Given the description of an element on the screen output the (x, y) to click on. 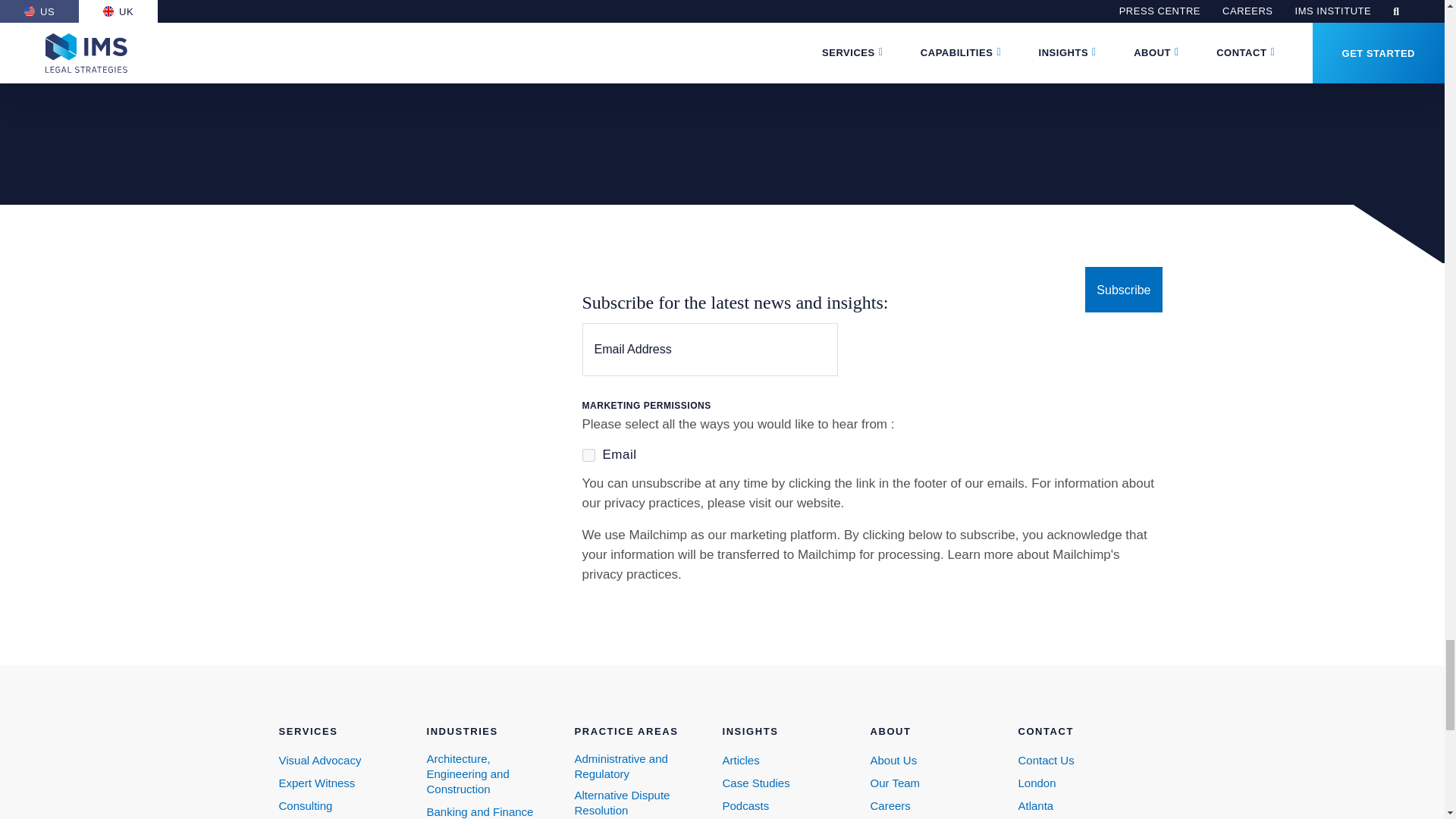
Y (588, 454)
Subscribe (1122, 289)
